Given the description of an element on the screen output the (x, y) to click on. 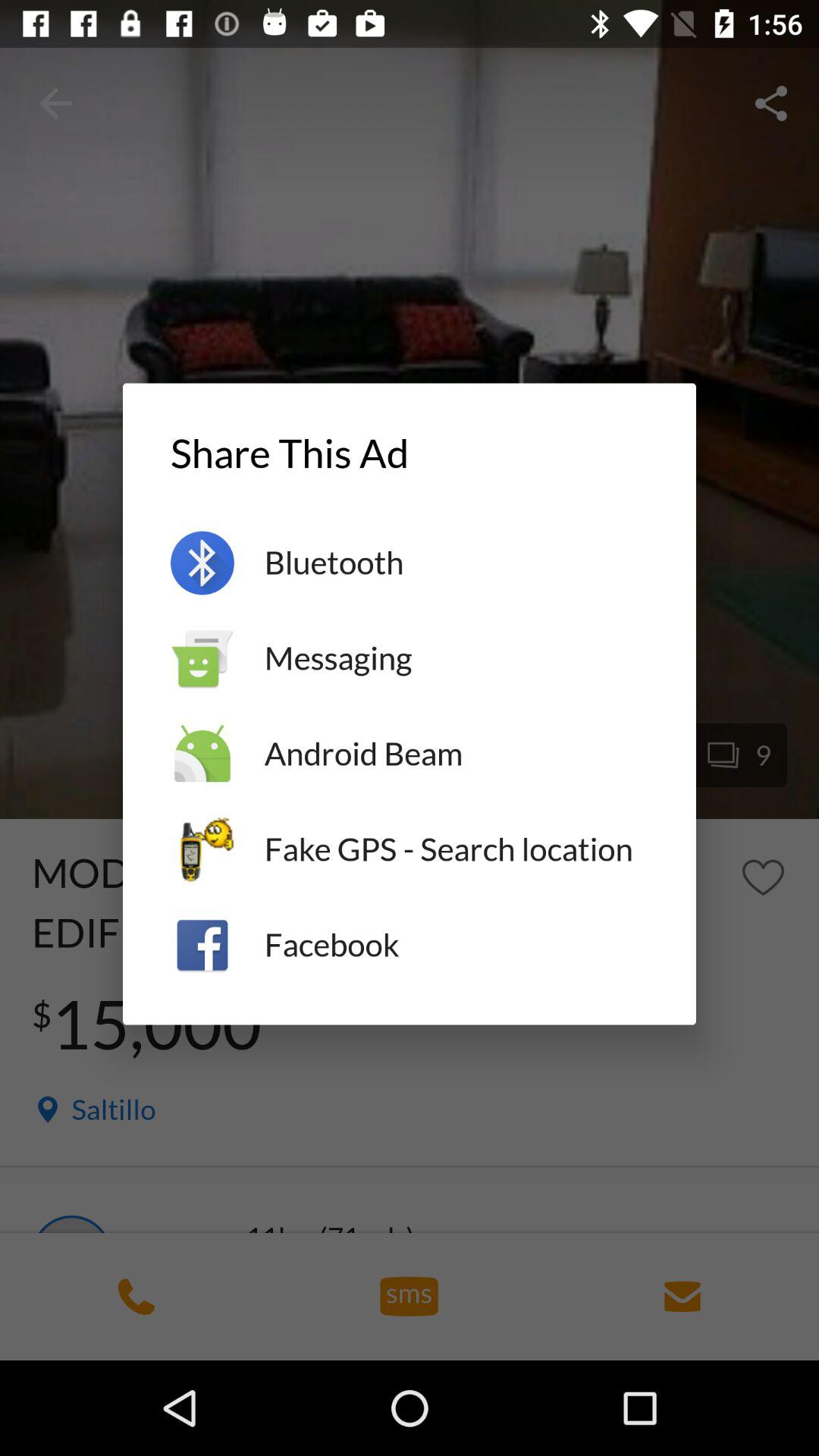
open the item above the facebook item (456, 849)
